Given the description of an element on the screen output the (x, y) to click on. 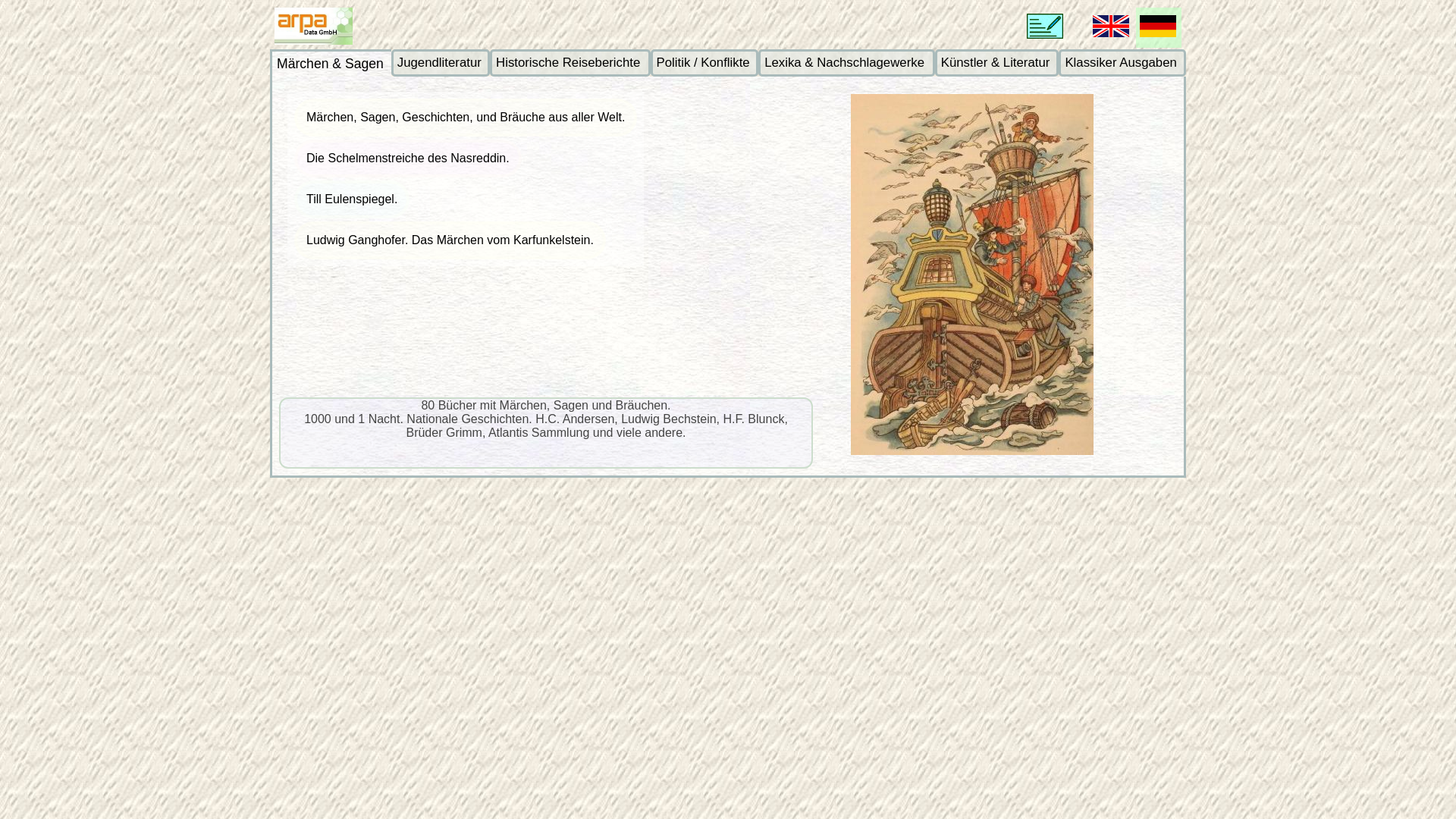
Politik / Konflikte Element type: text (704, 62)
Die Schelmenstreiche des Nasreddin. Element type: text (407, 157)
Till Eulenspiegel. Element type: text (351, 198)
Historische Reiseberichte Element type: text (569, 62)
Lexika & Nachschlagewerke Element type: text (846, 62)
Klassiker Ausgaben Element type: text (1122, 62)
Jugendliteratur Element type: text (440, 62)
Arpa Data Homepage Element type: hover (313, 25)
Kontakt Element type: hover (1044, 25)
